Given the description of an element on the screen output the (x, y) to click on. 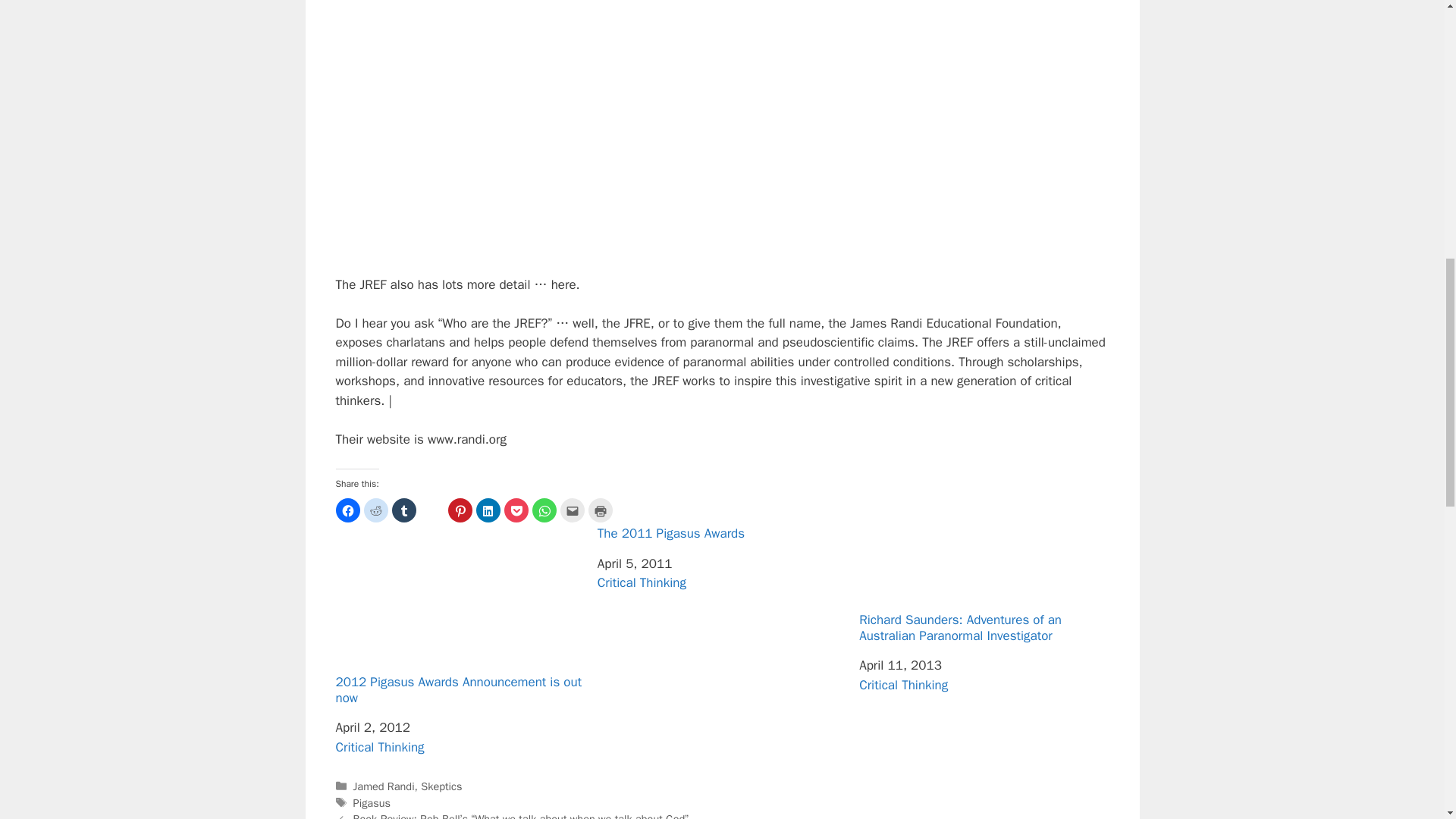
Click to share on Tumblr (402, 509)
Print (600, 509)
2012 Pigasus Awards Announcement is out now (459, 615)
Click to share on LinkedIn (488, 509)
Click to share on Facebook (346, 509)
Critical Thinking (378, 747)
Critical Thinking (640, 582)
Click to share on Pinterest (458, 509)
Click to share on Pocket (515, 509)
The 2011 Pigasus Awards (721, 533)
Click to share on Email (571, 509)
Click to share on X (432, 509)
Click to share on WhatsApp (544, 509)
Click to share on Reddit (376, 509)
